Given the description of an element on the screen output the (x, y) to click on. 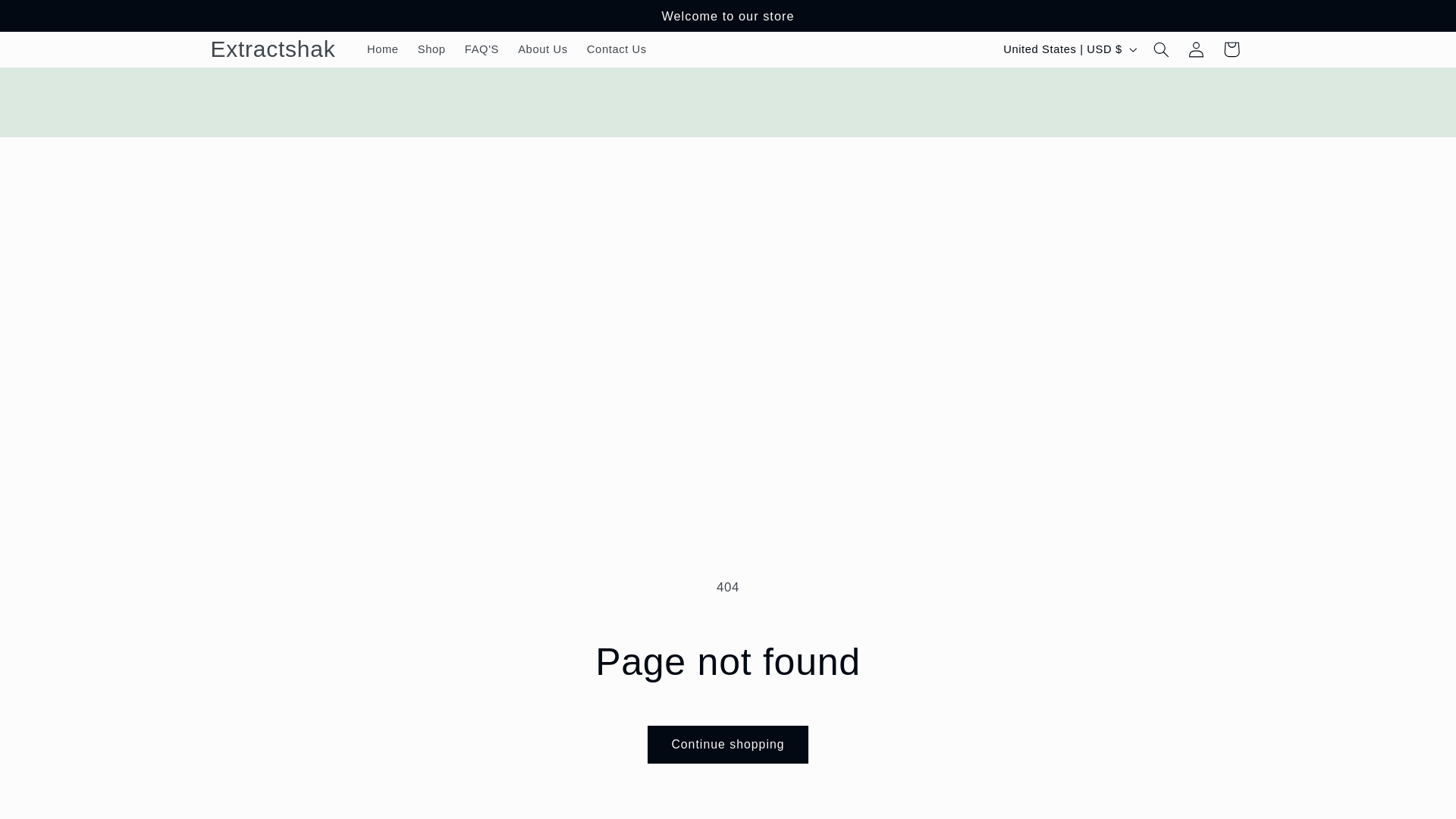
Extractshak (273, 49)
Contact Us (616, 49)
Skip to content (48, 18)
Log in (1194, 48)
Continue shopping (727, 743)
Home (381, 49)
Shop (430, 49)
About Us (543, 49)
Cart (1231, 48)
FAQ'S (481, 49)
